Given the description of an element on the screen output the (x, y) to click on. 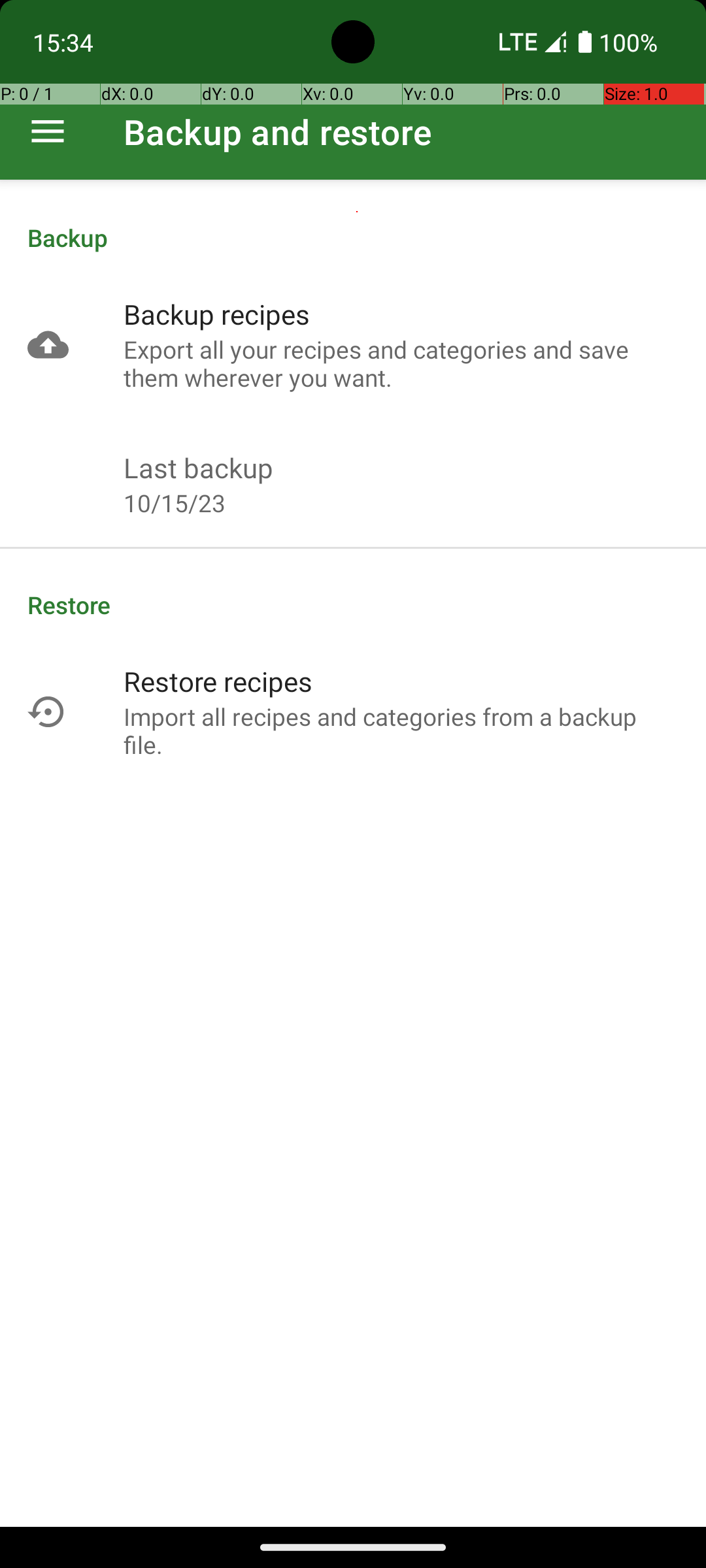
Backup and restore Element type: android.widget.TextView (277, 131)
Backup recipes Element type: android.widget.TextView (216, 313)
Export all your recipes and categories and save them wherever you want. Element type: android.widget.TextView (400, 362)
Last backup Element type: android.widget.TextView (198, 467)
10/15/23 Element type: android.widget.TextView (174, 502)
Restore Element type: android.widget.TextView (352, 604)
Restore recipes Element type: android.widget.TextView (217, 680)
Import all recipes and categories from a backup file. Element type: android.widget.TextView (400, 730)
